Given the description of an element on the screen output the (x, y) to click on. 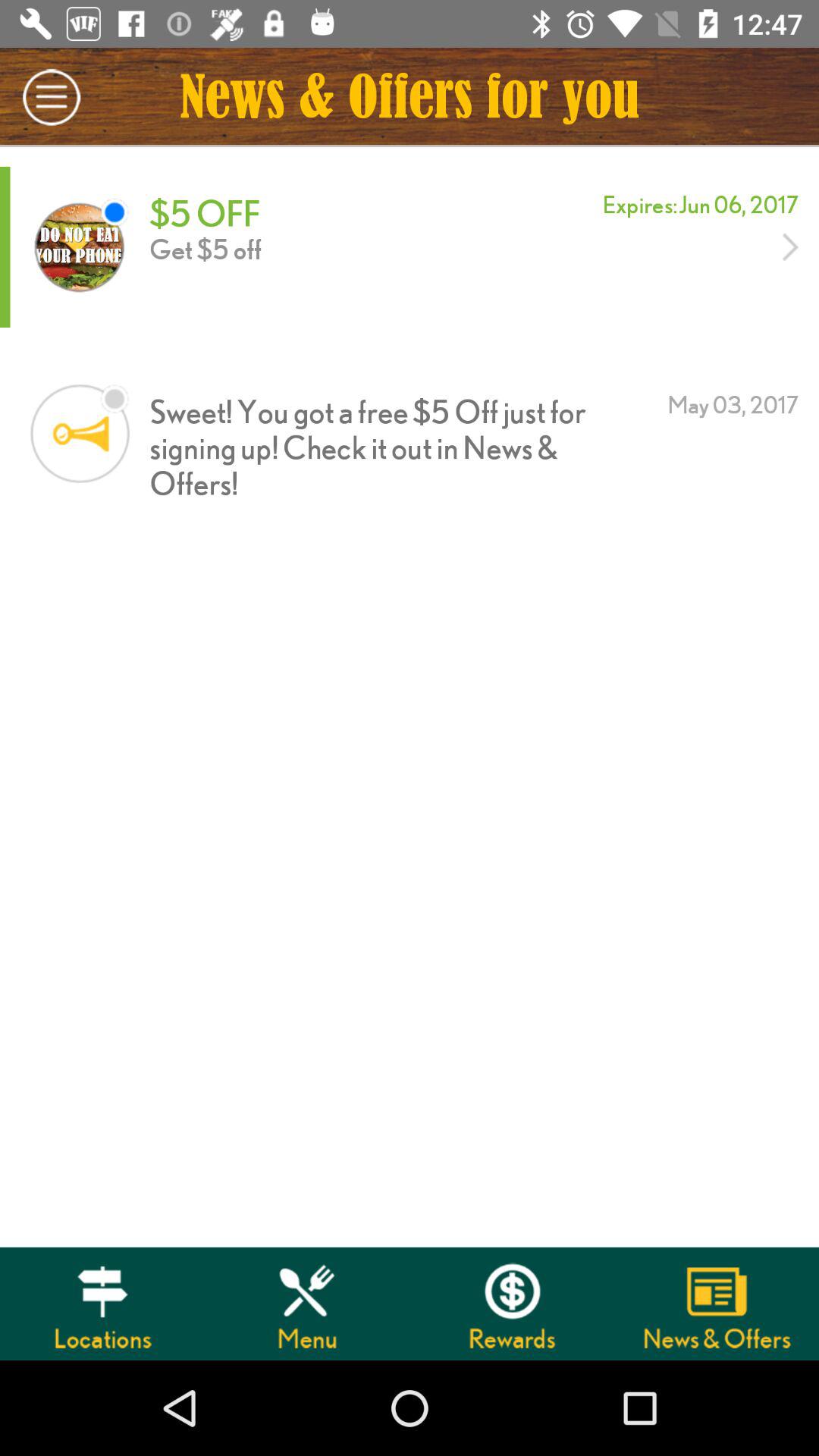
select the item next to news offers for icon (51, 96)
